Given the description of an element on the screen output the (x, y) to click on. 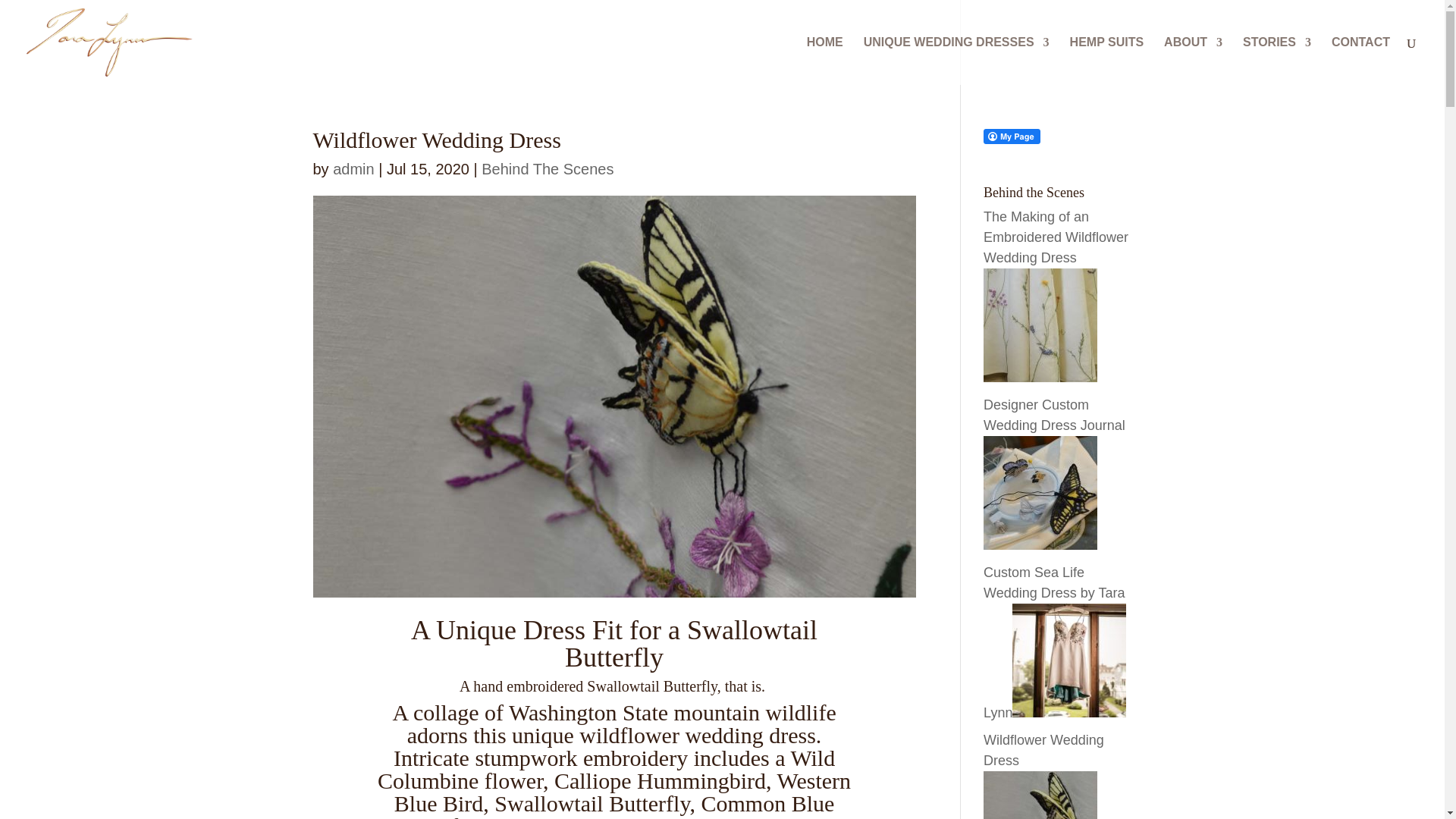
UNIQUE WEDDING DRESSES (956, 60)
Posts by admin (353, 168)
ABOUT (1193, 60)
Contact (1361, 60)
HEMP SUITS (1107, 60)
CONTACT (1361, 60)
STORIES (1277, 60)
Bespoke Hemp Suits (1107, 60)
